Given the description of an element on the screen output the (x, y) to click on. 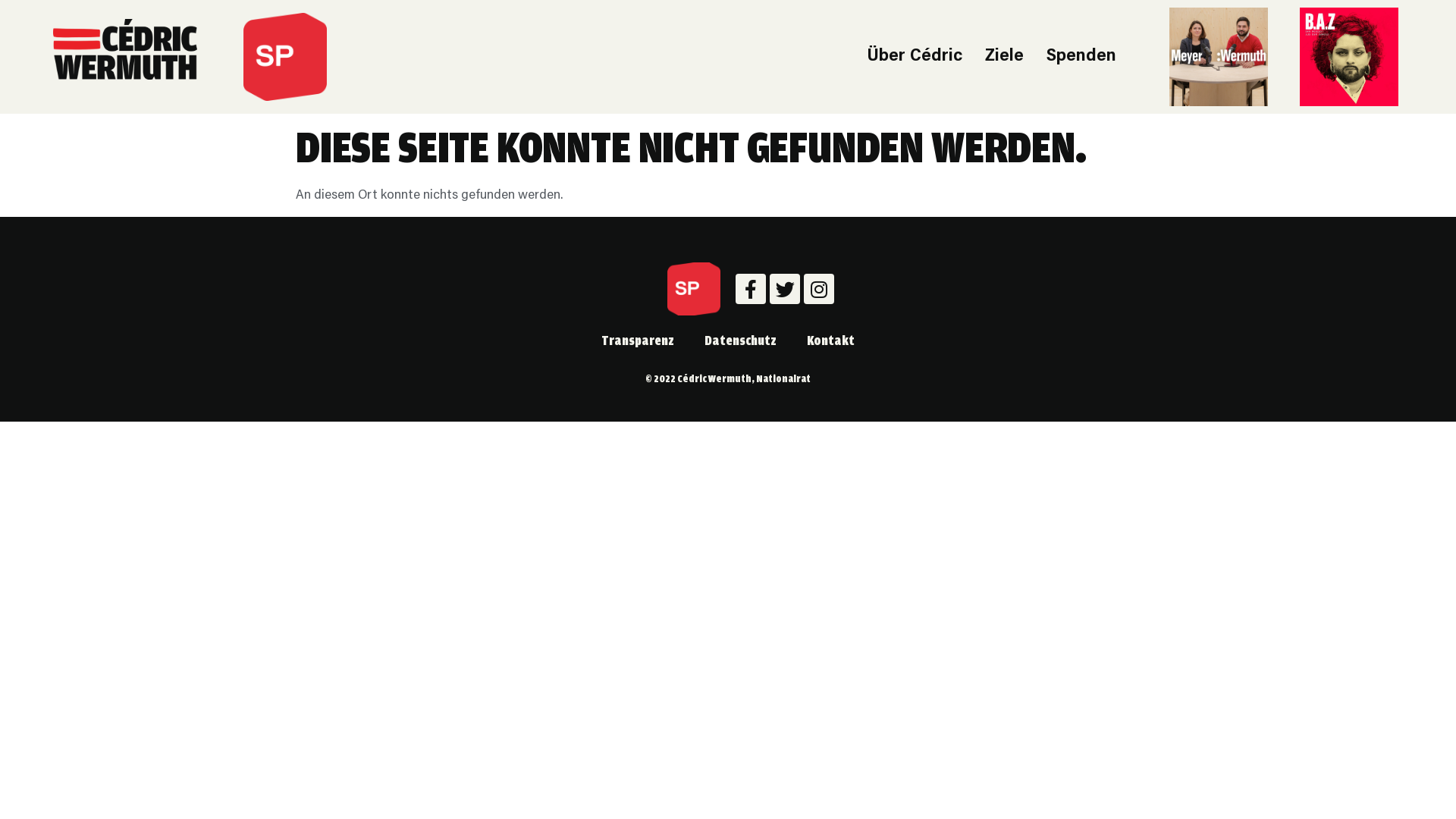
Spenden Element type: text (1081, 56)
Ziele Element type: text (1004, 56)
Kontakt Element type: text (830, 340)
Datenschutz Element type: text (740, 340)
Transparenz Element type: text (637, 340)
